Given the description of an element on the screen output the (x, y) to click on. 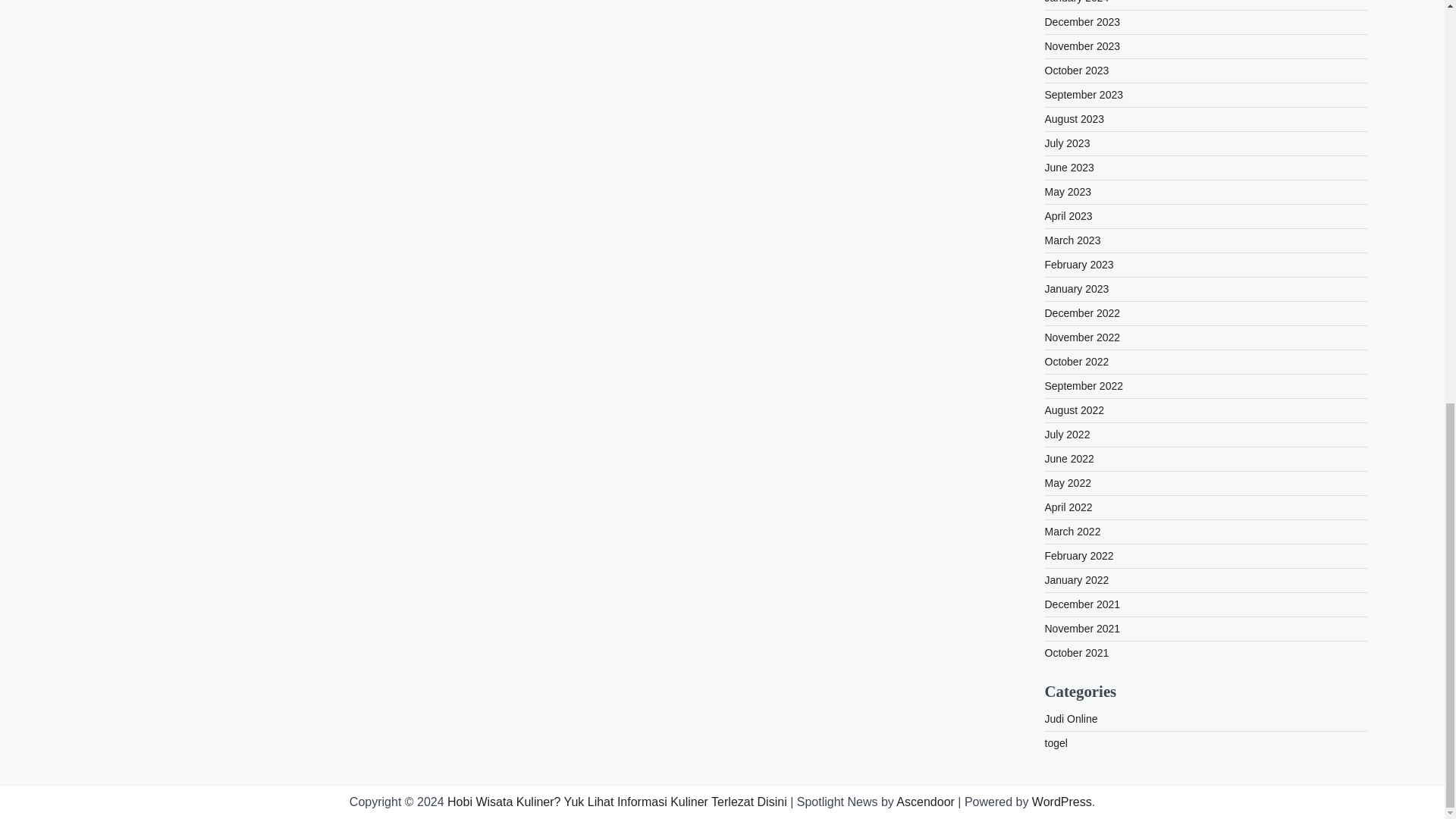
January 2024 (1077, 2)
September 2023 (1084, 94)
October 2023 (1077, 70)
November 2023 (1083, 46)
June 2023 (1069, 167)
July 2023 (1067, 143)
April 2023 (1069, 215)
August 2023 (1075, 119)
May 2023 (1067, 191)
December 2023 (1083, 21)
